Given the description of an element on the screen output the (x, y) to click on. 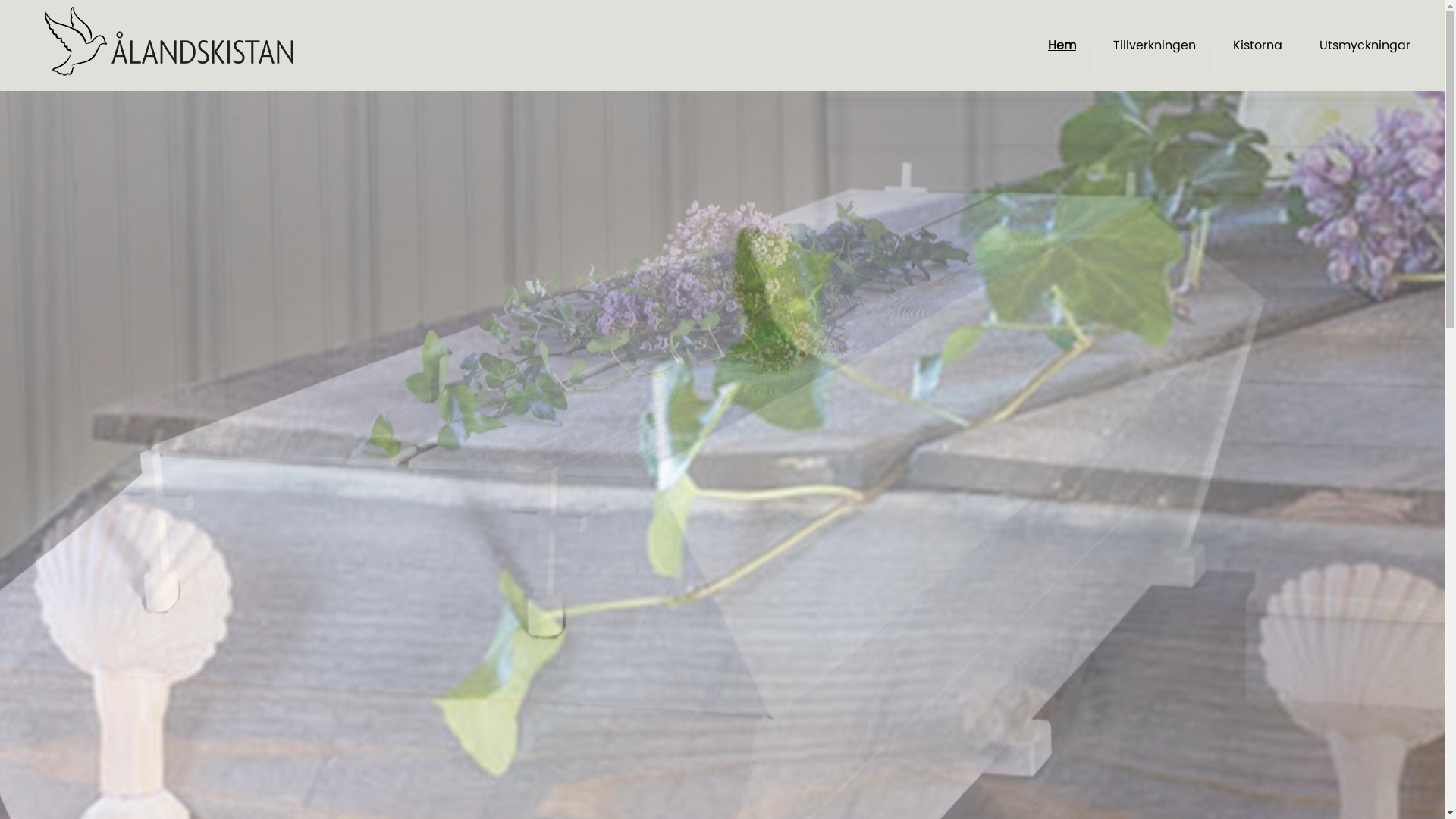
Kistorna Element type: text (1257, 45)
Utsmyckningar Element type: text (1364, 45)
Tillverkningen Element type: text (1154, 45)
Hem Element type: text (1061, 45)
